Given the description of an element on the screen output the (x, y) to click on. 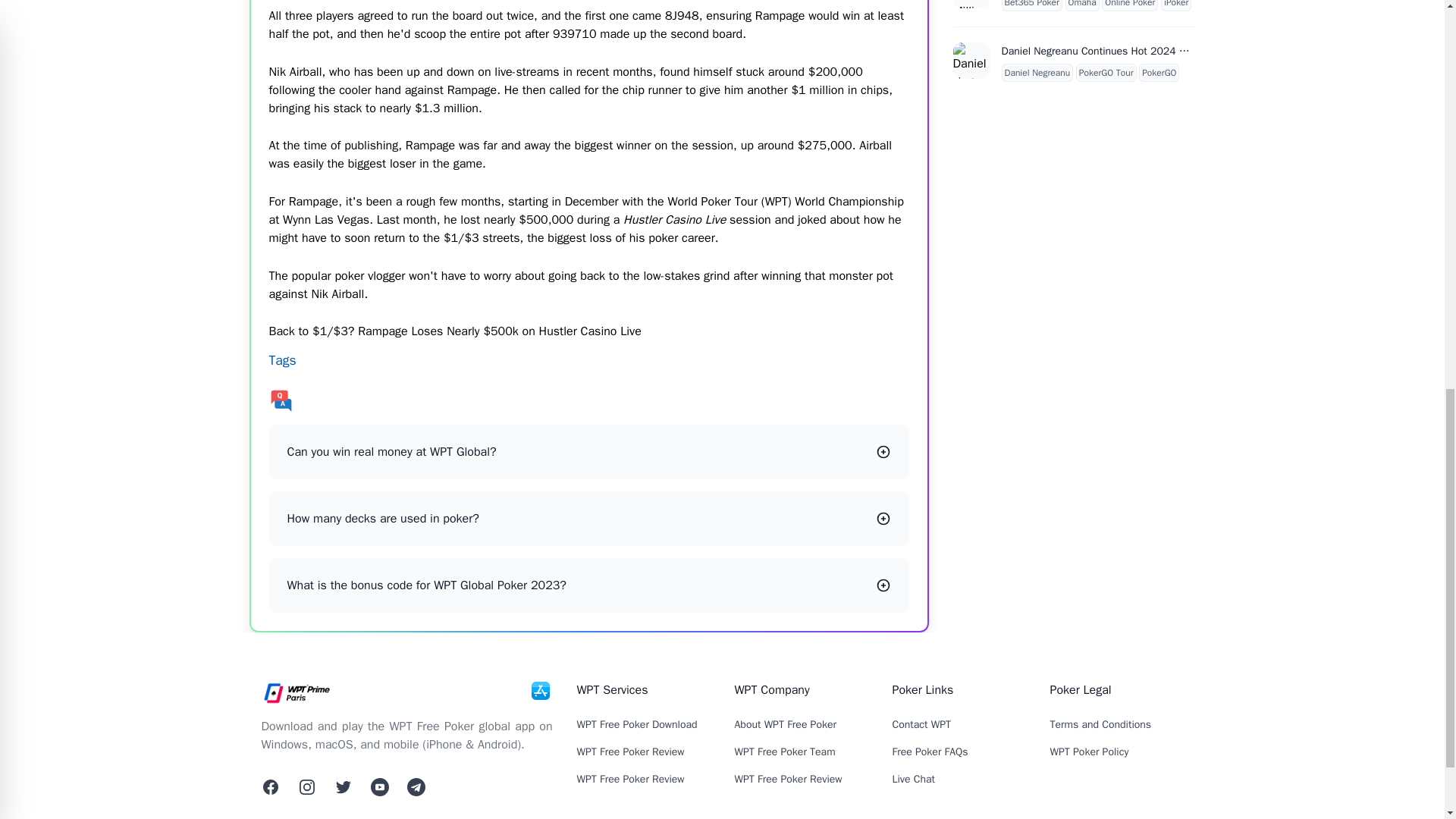
FAQs list (587, 400)
